Given the description of an element on the screen output the (x, y) to click on. 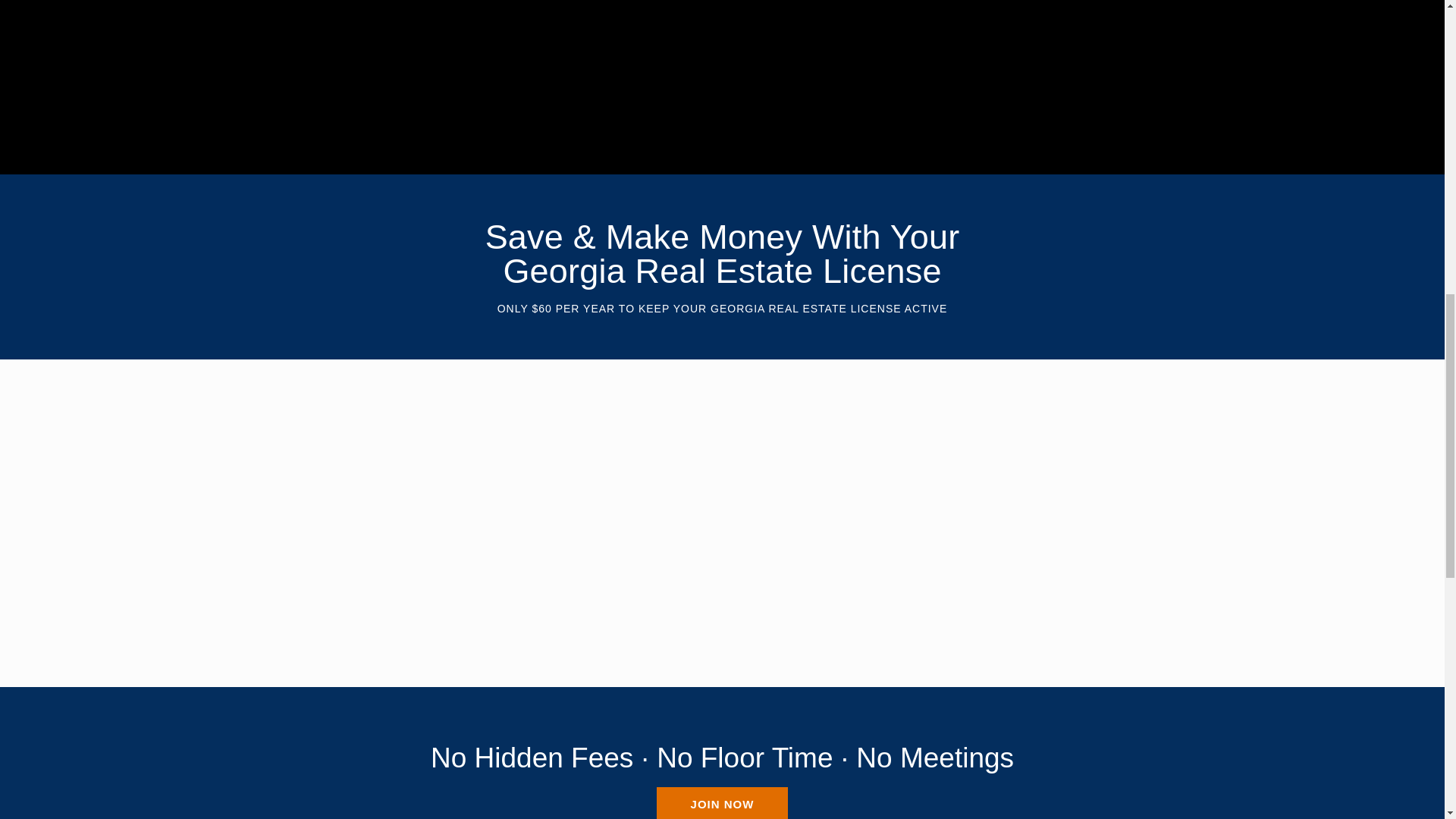
JOIN NOW (722, 803)
